Given the description of an element on the screen output the (x, y) to click on. 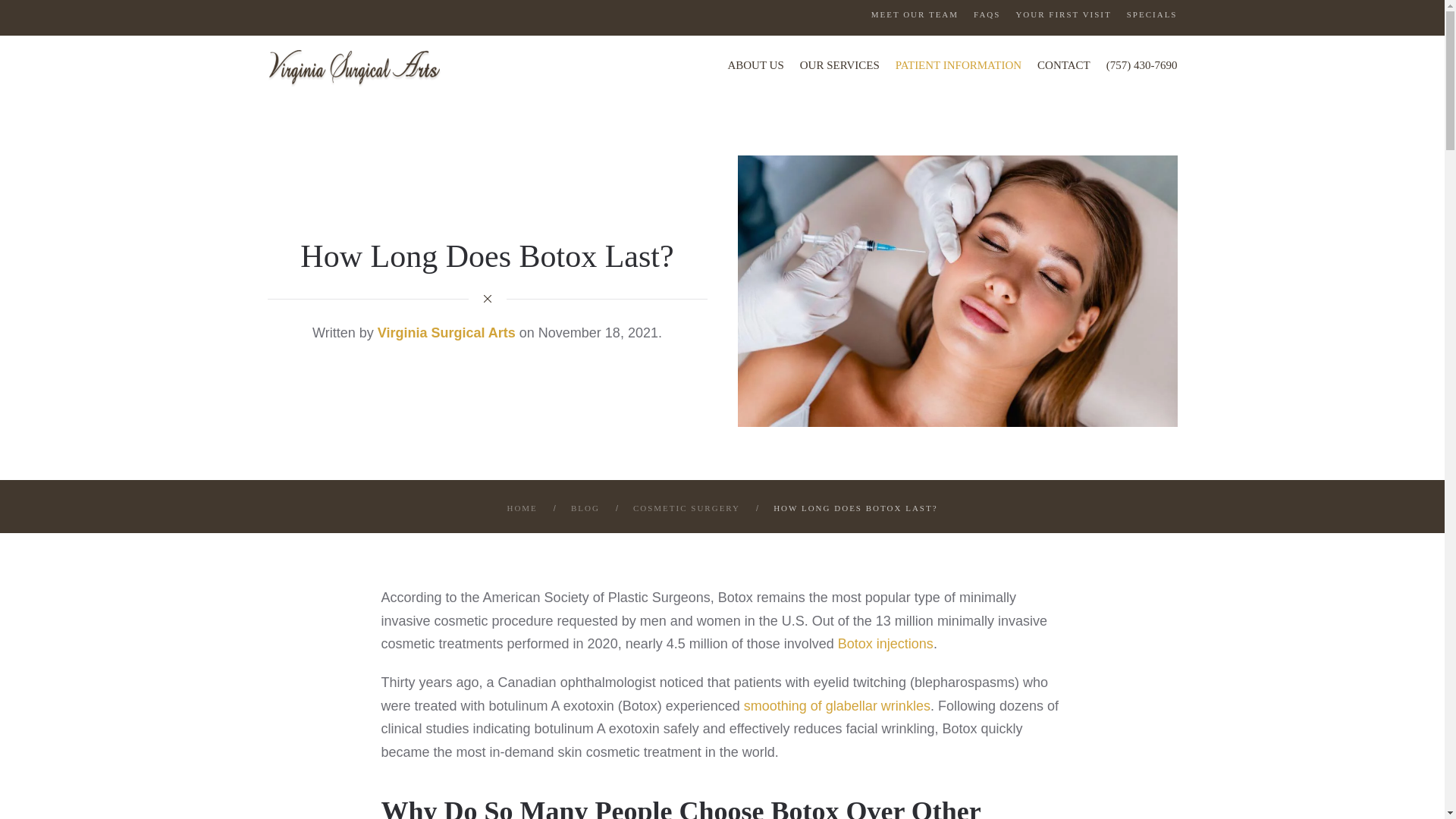
YOUR FIRST VISIT (1062, 14)
MEET OUR TEAM (914, 14)
FAQS (987, 14)
SPECIALS (1151, 14)
